Given the description of an element on the screen output the (x, y) to click on. 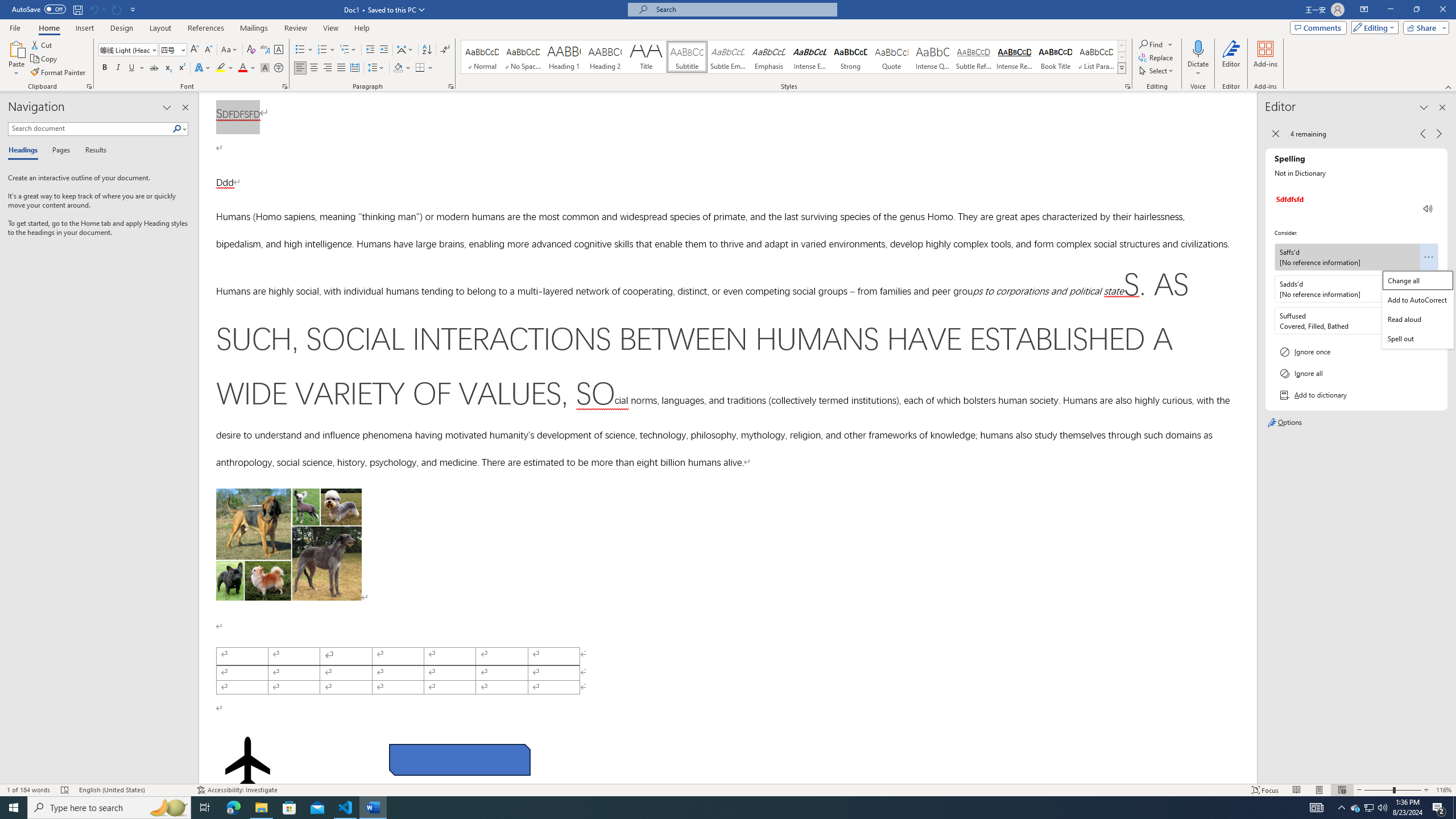
Zoom 116% (1443, 790)
Next Issue, 4 remaining (1439, 133)
Intense Quote (932, 56)
Book Title (1055, 56)
